Given the description of an element on the screen output the (x, y) to click on. 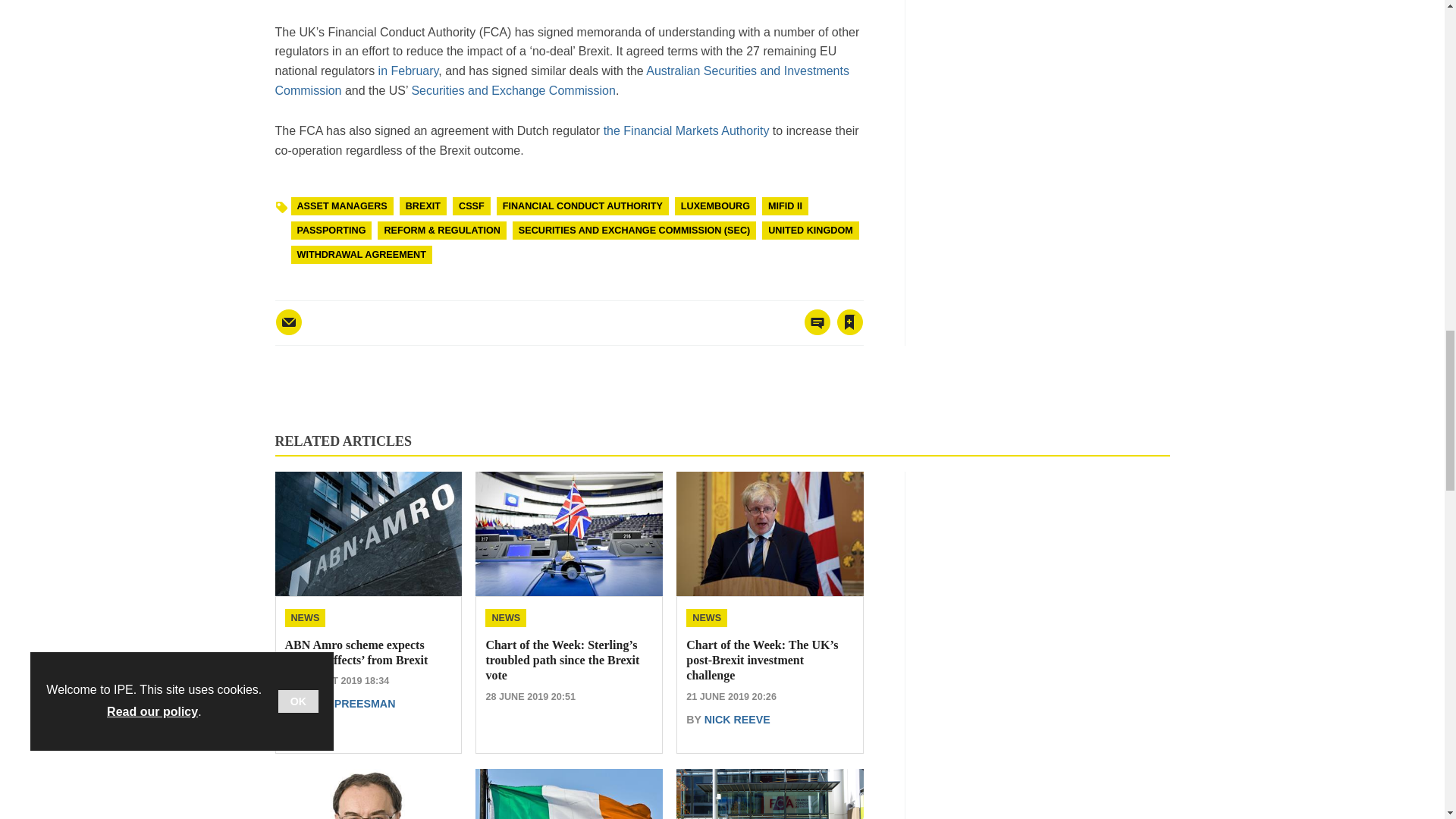
Email this article (288, 321)
